Given the description of an element on the screen output the (x, y) to click on. 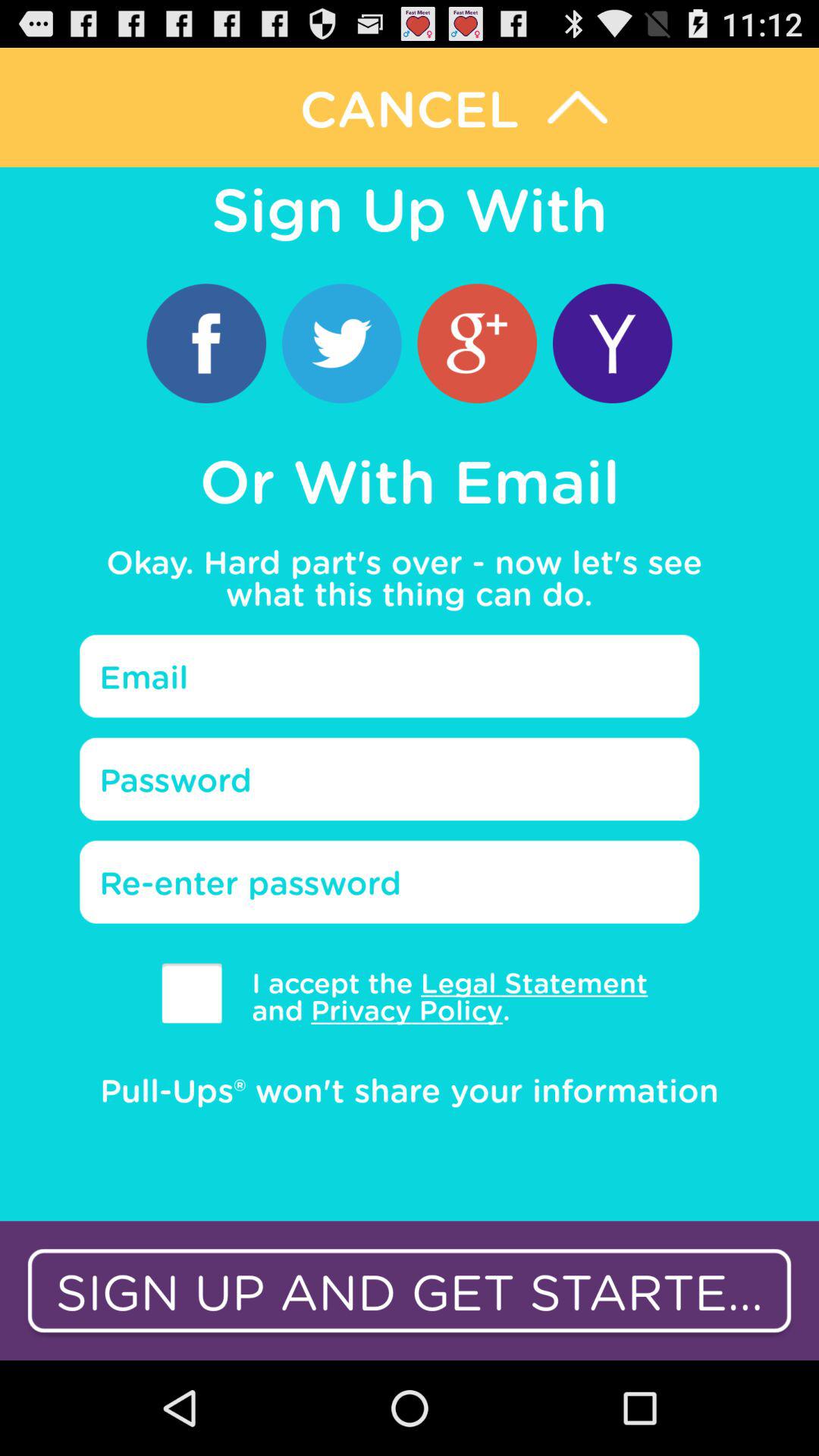
twitter (341, 343)
